Given the description of an element on the screen output the (x, y) to click on. 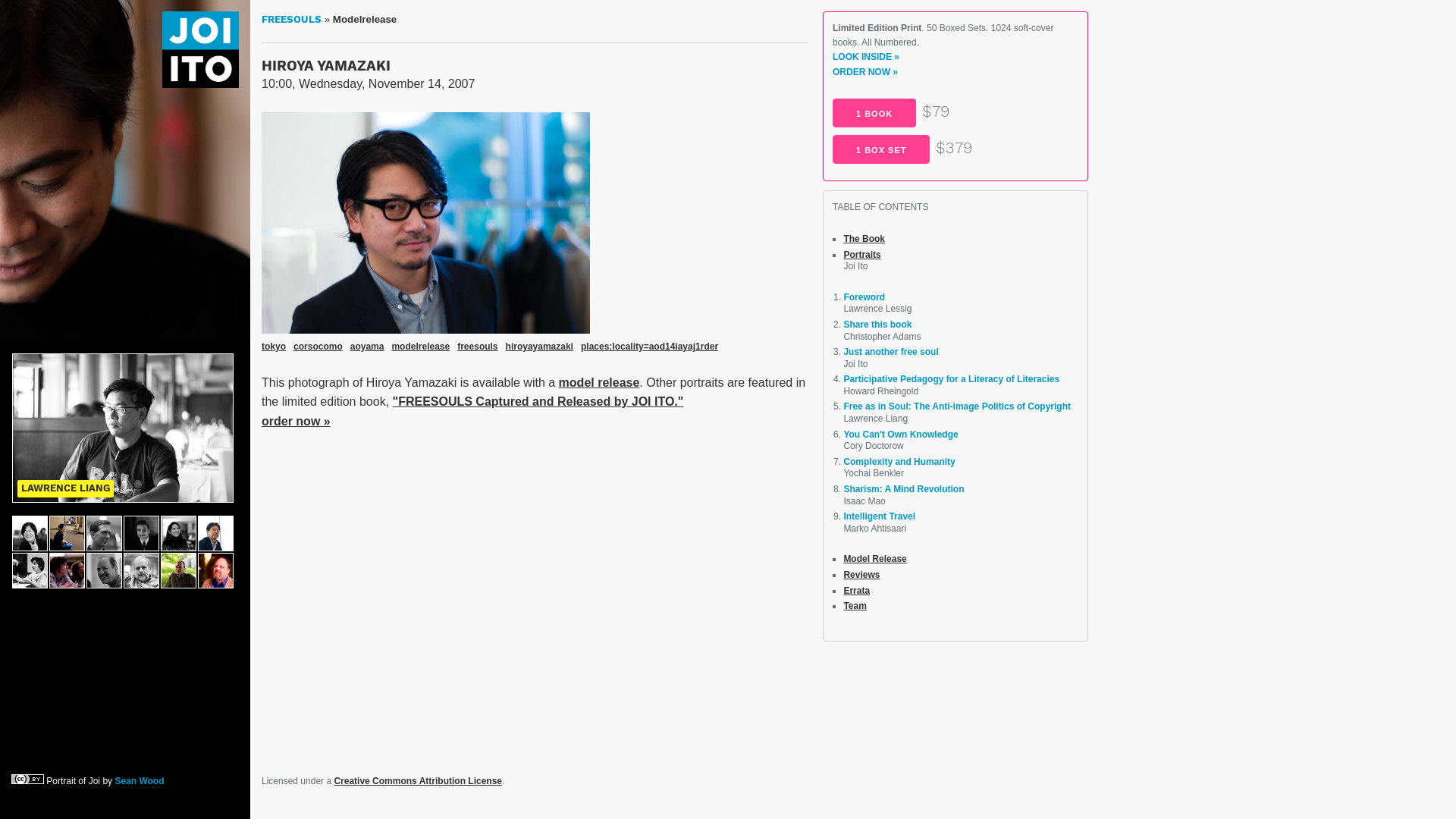
Dmitri Williams Element type: hover (103, 533)
places:locality=aod14iayaj1rder Element type: text (649, 346)
Errata Element type: text (856, 590)
ORDER NOW Element type: text (864, 71)
Lawrence Liang Element type: hover (122, 427)
Foreword Element type: text (863, 296)
Intelligent Travel Element type: text (879, 516)
LAWRENCE LIANG Element type: text (65, 488)
hiroyayamazaki Element type: text (539, 346)
Participative Pedagogy for a Literacy of Literacies Element type: text (951, 378)
1 Box Set Element type: text (880, 148)
Portraits Element type: text (861, 254)
Kurt Pritz Element type: hover (141, 533)
FREESOULS Element type: text (291, 19)
Joi Ito Element type: text (200, 49)
Creative Commons Attribution License Element type: text (417, 780)
Sean Wood Element type: text (138, 780)
order now Element type: text (295, 420)
Hiroya Yamazaki Element type: hover (425, 329)
Tom Munnecke Element type: hover (141, 570)
1 Book Element type: text (874, 112)
Jeff Slostad Element type: hover (215, 570)
Team Element type: text (854, 605)
Model Release Element type: text (874, 558)
aoyama Element type: text (367, 346)
You Can't Own Knowledge Element type: text (900, 434)
Rex Hammock Element type: hover (103, 570)
Share this book Element type: text (877, 324)
"FREESOULS Captured and Released by JOI ITO." Element type: text (538, 401)
corsocomo Element type: text (317, 346)
Mimi Element type: hover (66, 533)
Complexity and Humanity Element type: text (898, 461)
model release Element type: text (599, 382)
Kenneth Cukier Element type: hover (178, 570)
Yoichiro Kawaguchi Element type: hover (29, 533)
Mallika Dutt Element type: hover (29, 570)
tokyo Element type: text (273, 346)
Just another free soul Element type: text (890, 351)
LOOK INSIDE Element type: text (865, 56)
Sharism: A Mind Revolution Element type: text (903, 488)
freesouls Element type: text (477, 346)
Fred Benenson and John Perry Barlow Element type: hover (66, 570)
Reviews Element type: text (861, 574)
Oki Matsumoto Element type: hover (215, 533)
modelrelease Element type: text (420, 346)
The Book Element type: text (863, 238)
Free as in Soul: The Anti-image Politics of Copyright Element type: text (956, 406)
Renu Dvivedi Element type: hover (178, 533)
